Given the description of an element on the screen output the (x, y) to click on. 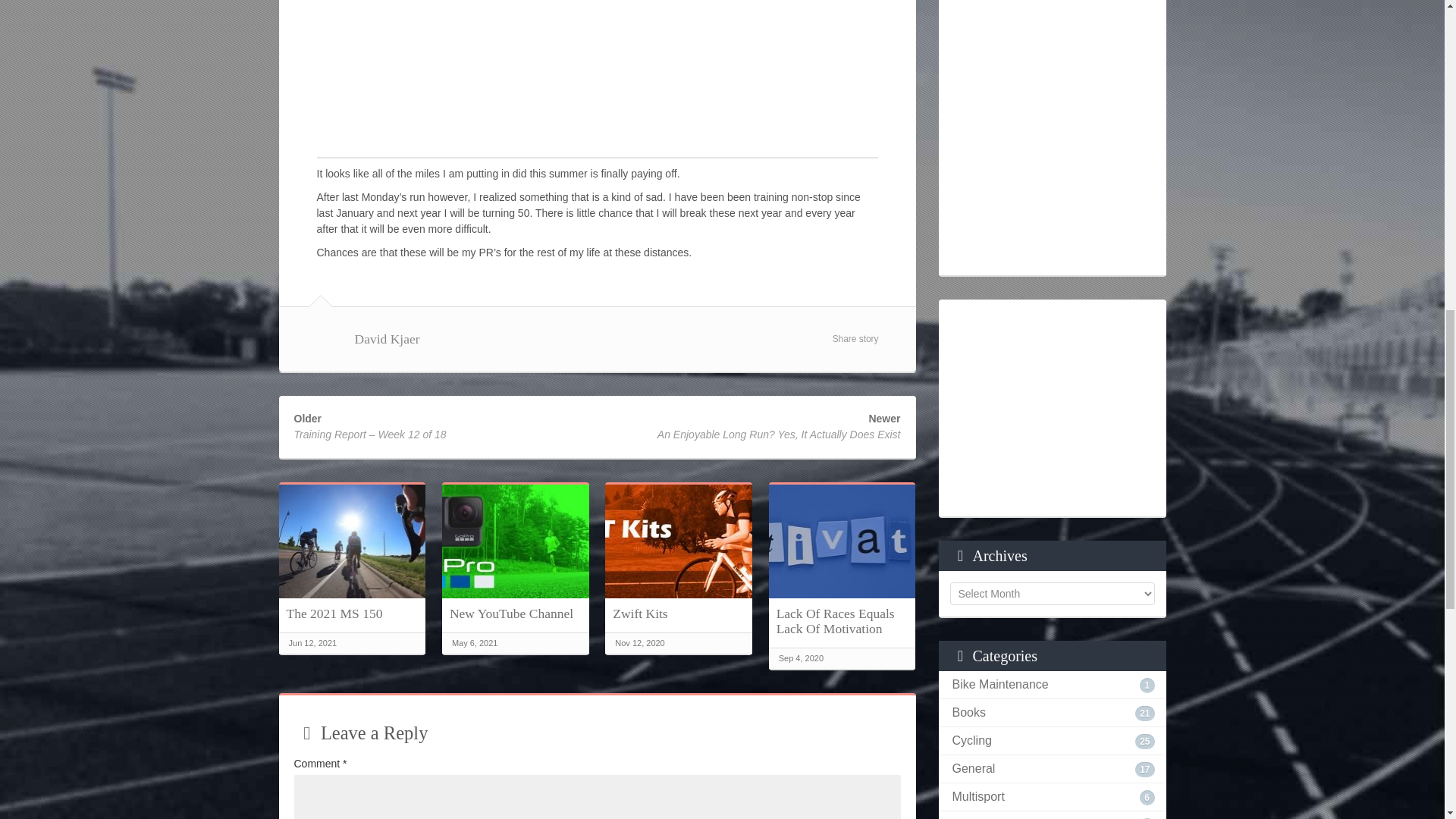
Zwift Kits (678, 613)
Lack Of Races Equals Lack Of Motivation (842, 621)
New YouTube Channel (514, 613)
The 2021 MS 150 (352, 613)
